Given the description of an element on the screen output the (x, y) to click on. 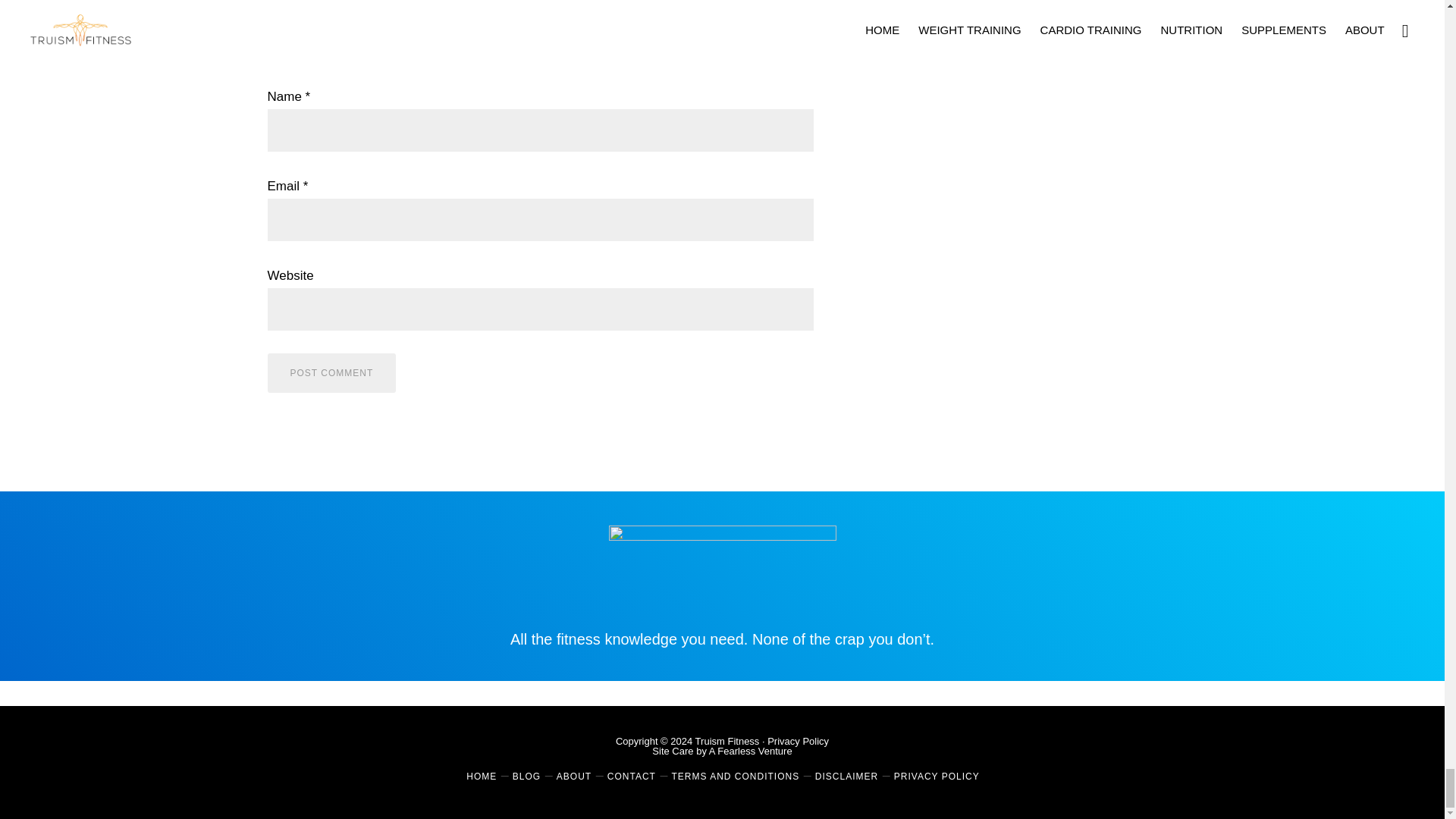
Post Comment (331, 372)
